Given the description of an element on the screen output the (x, y) to click on. 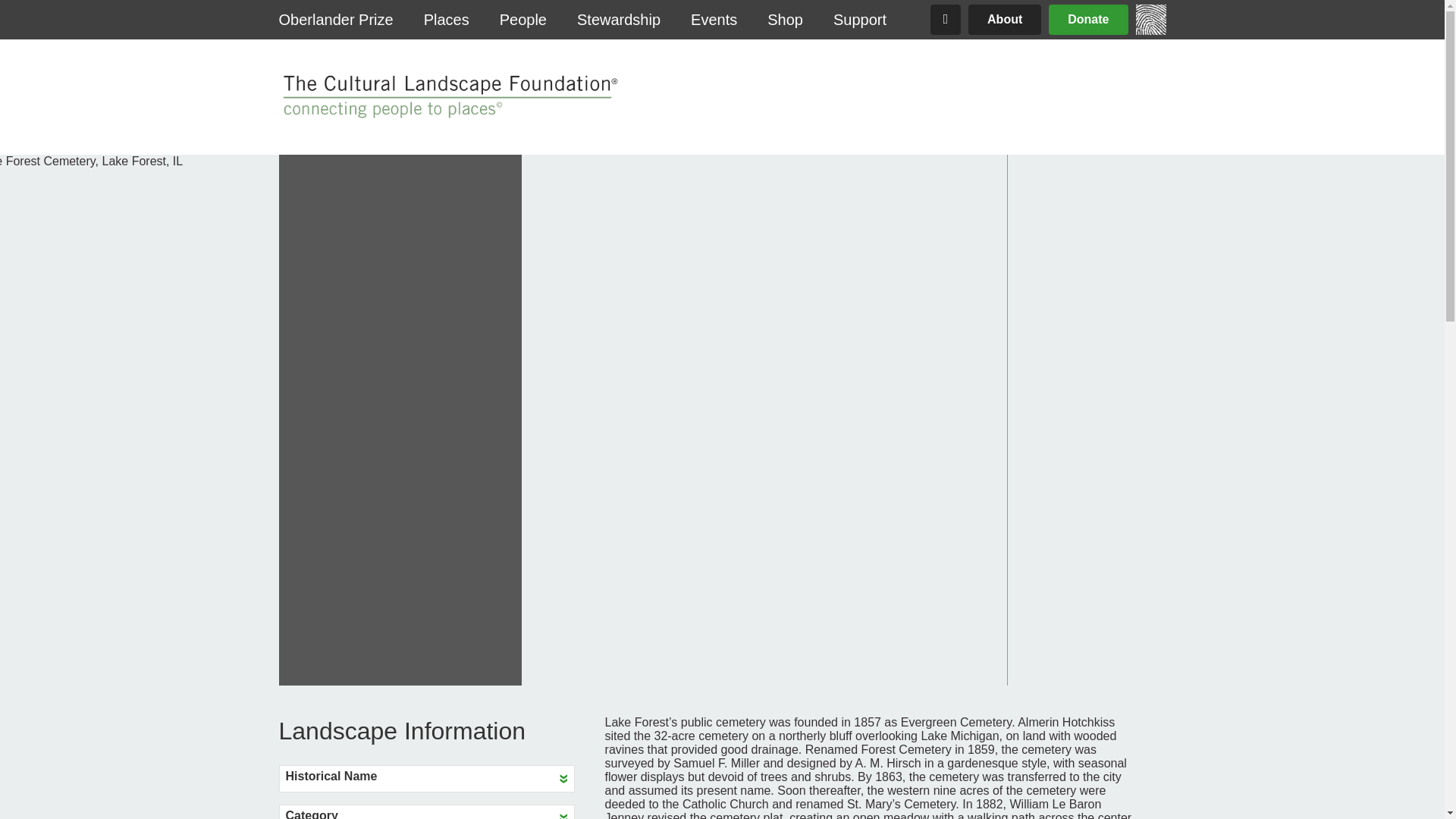
Oberlander Prize (336, 19)
Places (446, 19)
Home (1150, 30)
Home (448, 96)
